Given the description of an element on the screen output the (x, y) to click on. 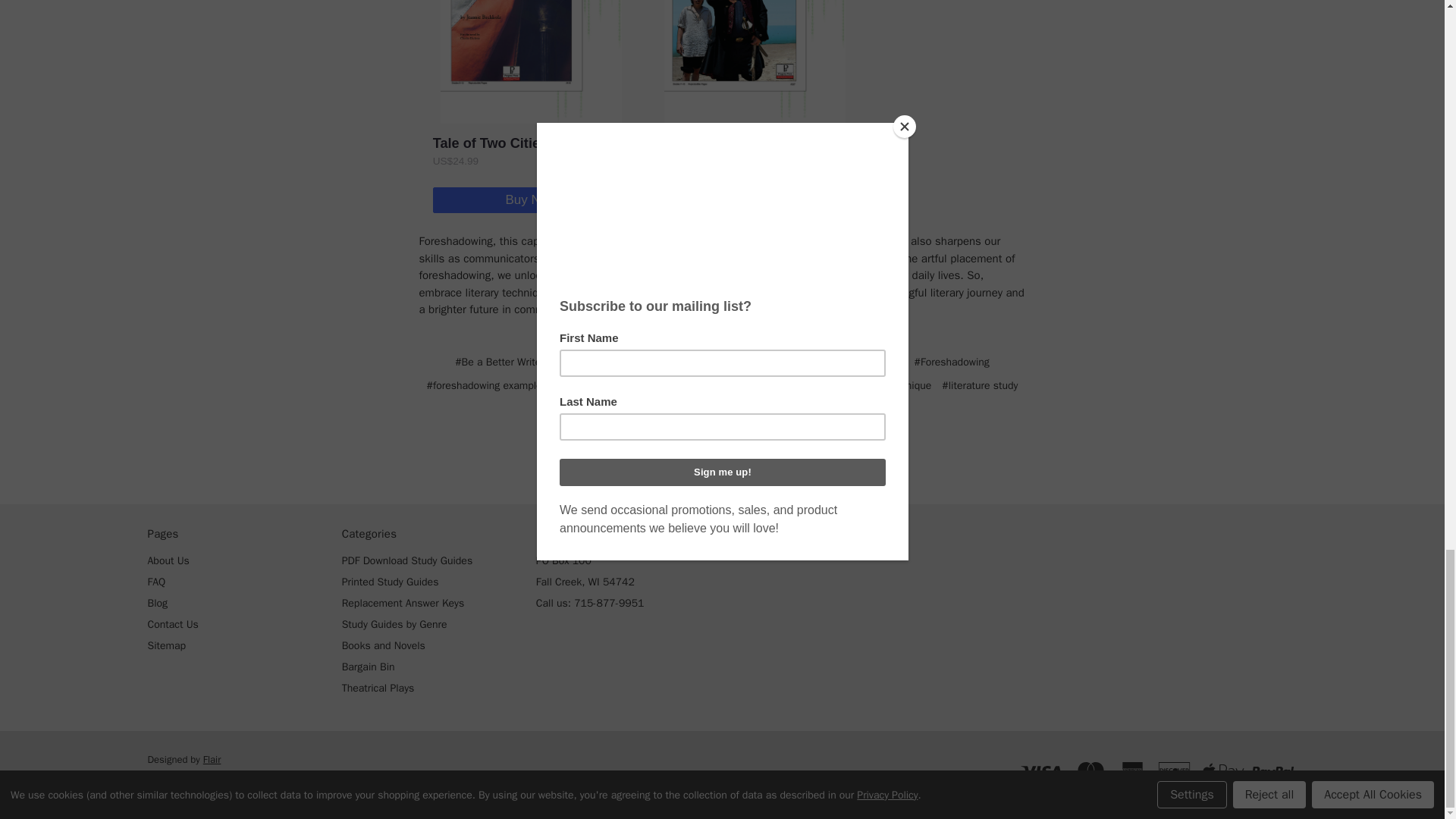
Pinterest (775, 453)
Print (720, 453)
Facebook (667, 453)
Twitter (746, 453)
Email (693, 453)
